Given the description of an element on the screen output the (x, y) to click on. 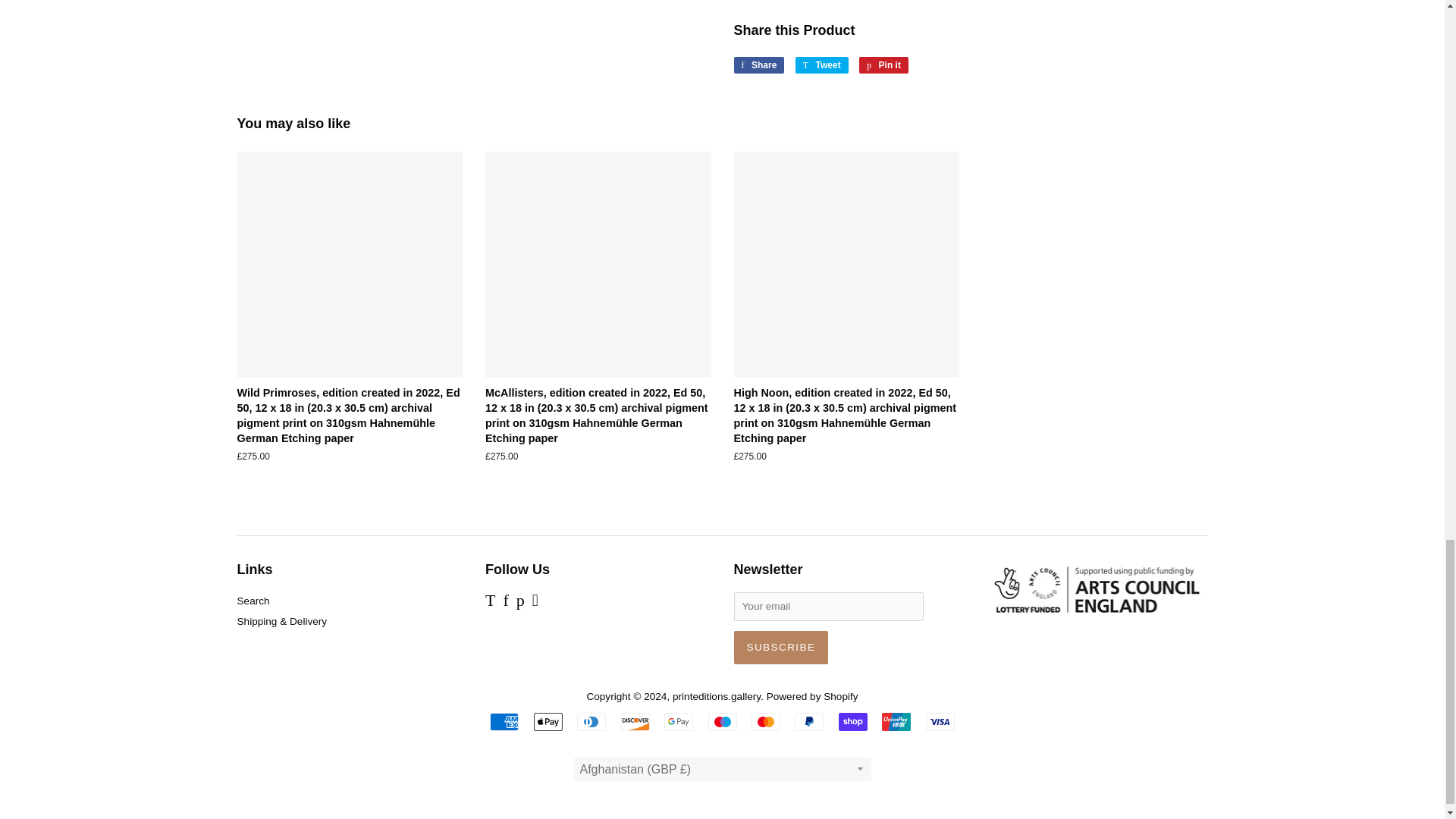
PayPal (809, 721)
American Express (503, 721)
Union Pay (896, 721)
Tweet on Twitter (821, 64)
Apple Pay (548, 721)
printeditions.gallery on Pinterest (520, 602)
Share on Facebook (758, 64)
Shop Pay (852, 721)
printeditions.gallery on Facebook (505, 602)
Maestro (721, 721)
printeditions.gallery on Instagram (535, 602)
printeditions.gallery on Twitter (489, 602)
Discover (635, 721)
Visa (940, 721)
Diners Club (590, 721)
